Given the description of an element on the screen output the (x, y) to click on. 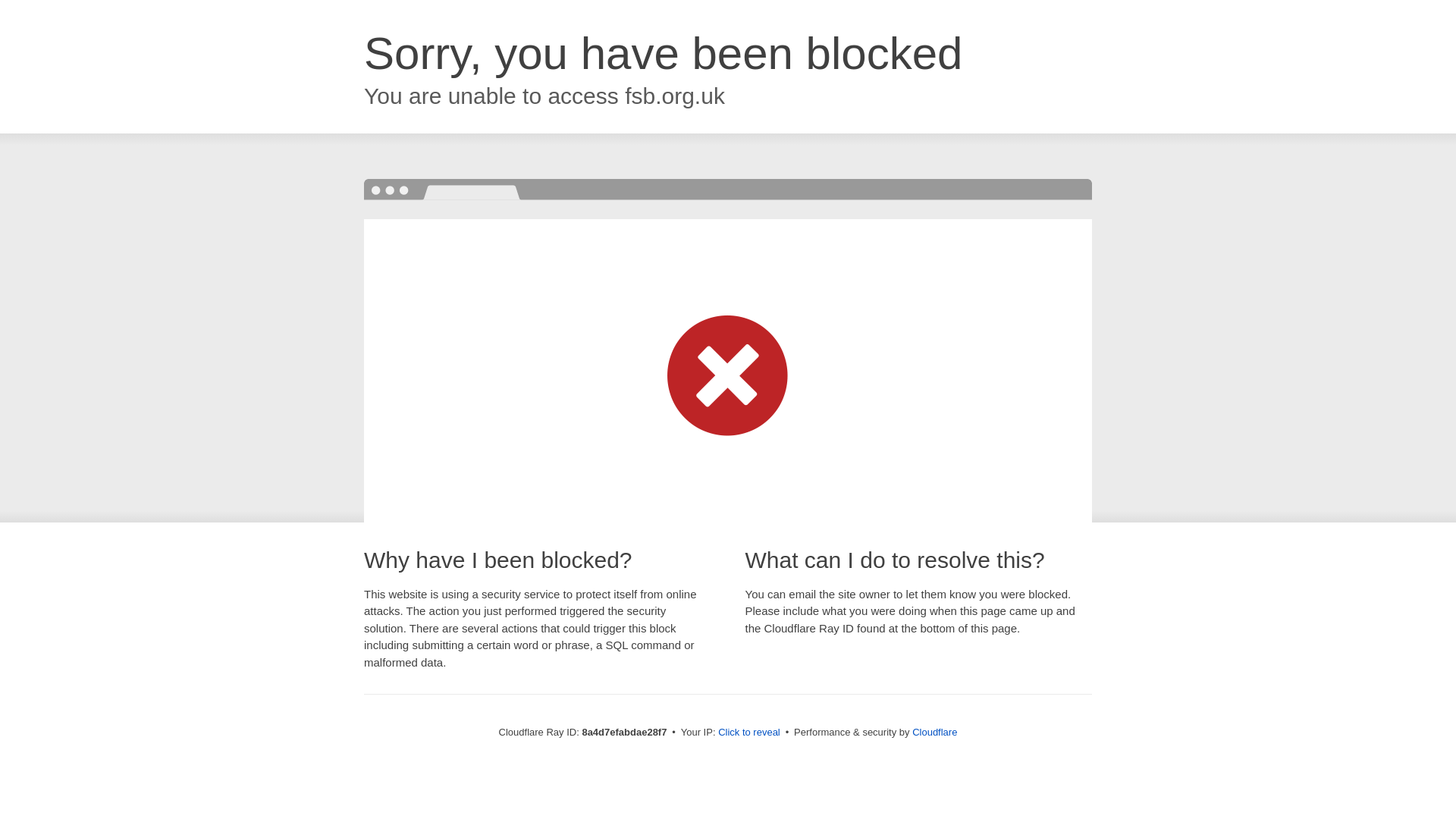
Cloudflare (934, 731)
Click to reveal (748, 732)
